Given the description of an element on the screen output the (x, y) to click on. 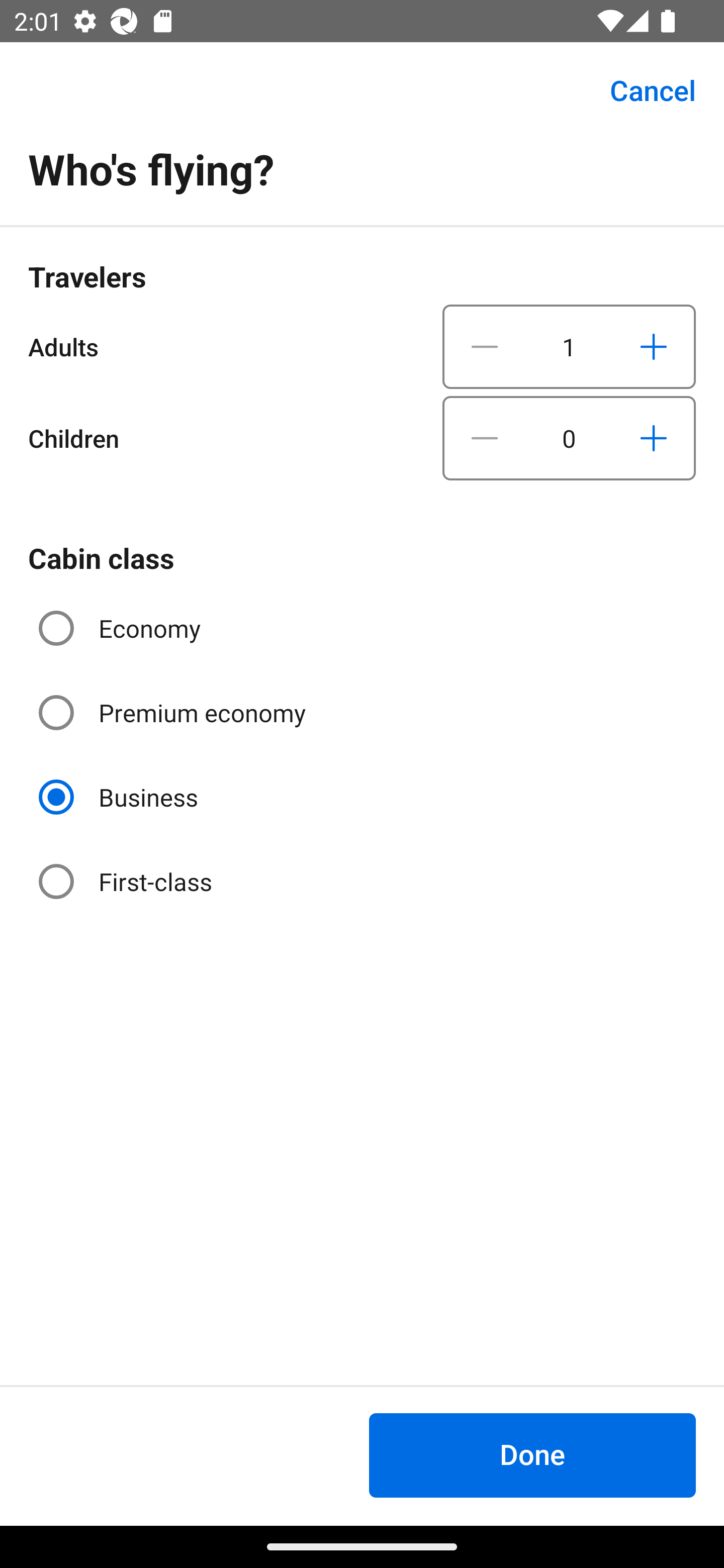
Cancel (641, 90)
Decrease (484, 346)
Increase (653, 346)
Decrease (484, 437)
Increase (653, 437)
Economy (121, 628)
Premium economy (174, 712)
Business (120, 796)
First-class (126, 880)
Done (532, 1454)
